Given the description of an element on the screen output the (x, y) to click on. 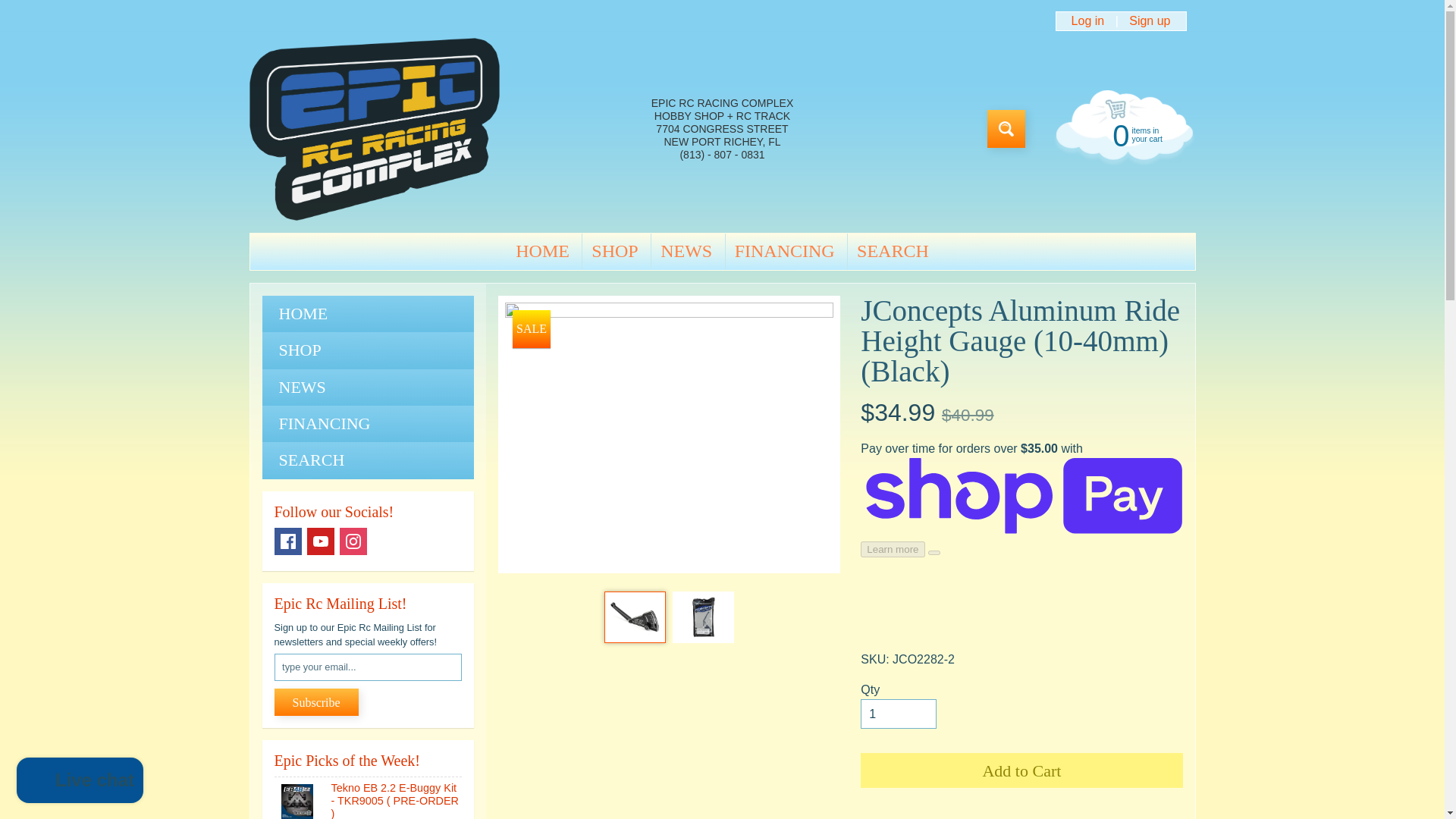
SHOP (614, 251)
HOME (542, 251)
FINANCING (368, 423)
Sign up (1149, 21)
Instagram (352, 541)
Search (1006, 128)
Facebook (288, 541)
EPIC RC Hobbies and Racing Complex (373, 128)
SHOP (368, 350)
FINANCING (784, 251)
NEWS (685, 251)
Subscribe (316, 701)
HOME (1122, 133)
SEARCH (368, 313)
